Given the description of an element on the screen output the (x, y) to click on. 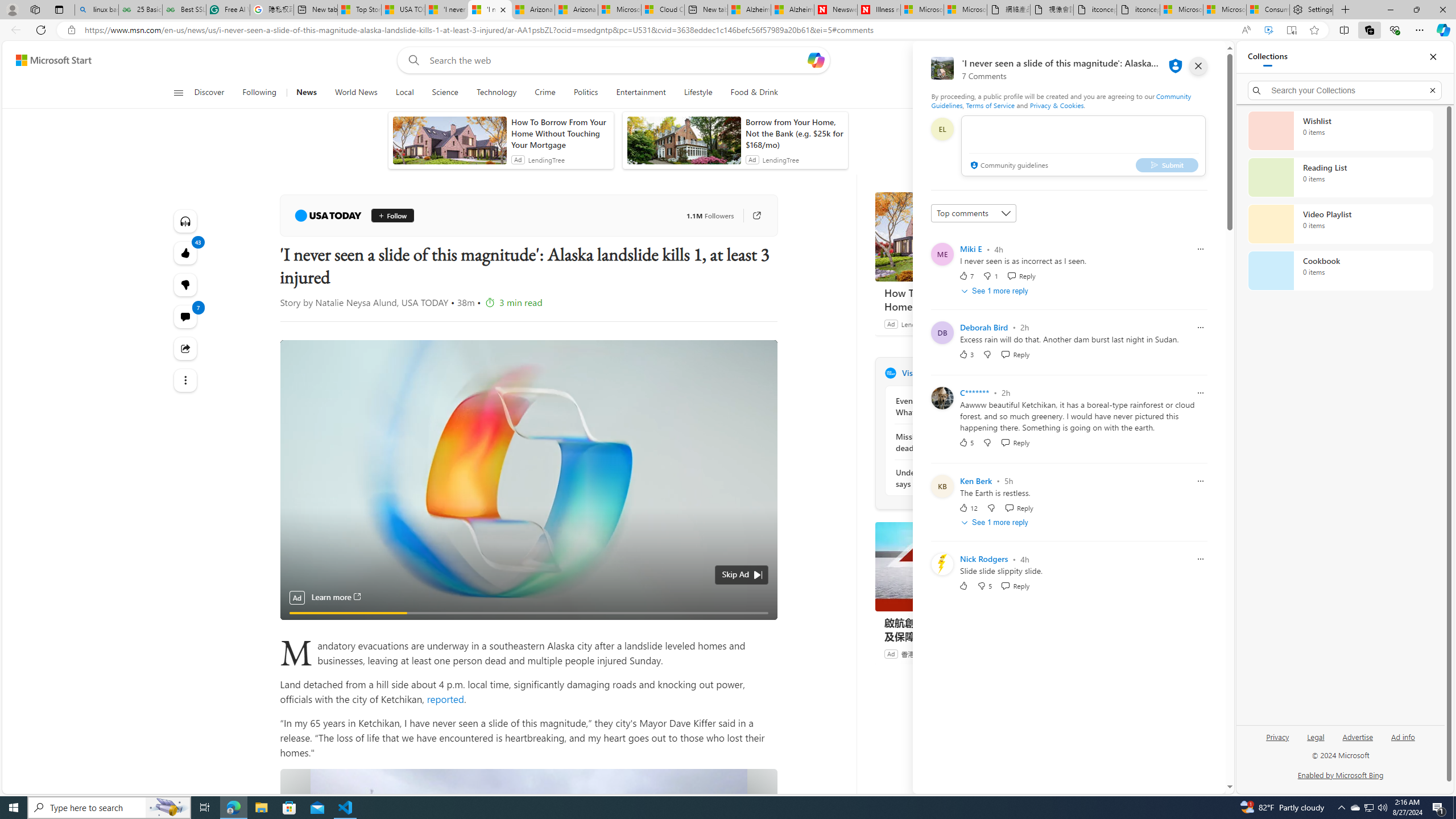
Borrow from Your Home, Not the Bank (e.g. $25k for $168/mo) (794, 133)
Like (962, 585)
Cloud Computing Services | Microsoft Azure (662, 9)
Reply Reply Comment (1015, 585)
USA TODAY (328, 215)
linux basic - Search (96, 9)
Top Stories - MSN (359, 9)
